Given the description of an element on the screen output the (x, y) to click on. 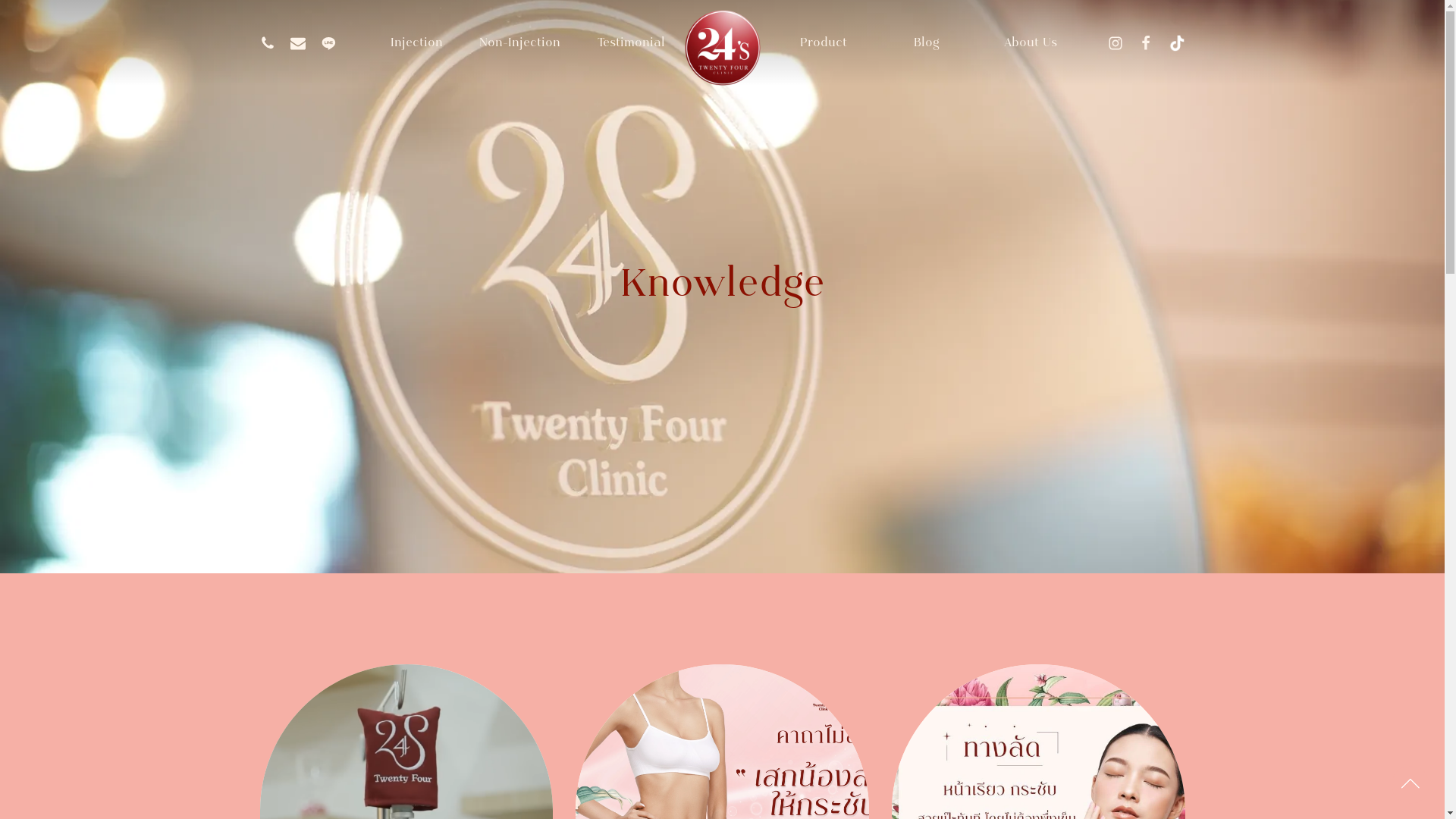
Injection Element type: text (415, 42)
Non-Injection Element type: text (519, 42)
Product Element type: text (823, 42)
Testimonial Element type: text (623, 42)
